Given the description of an element on the screen output the (x, y) to click on. 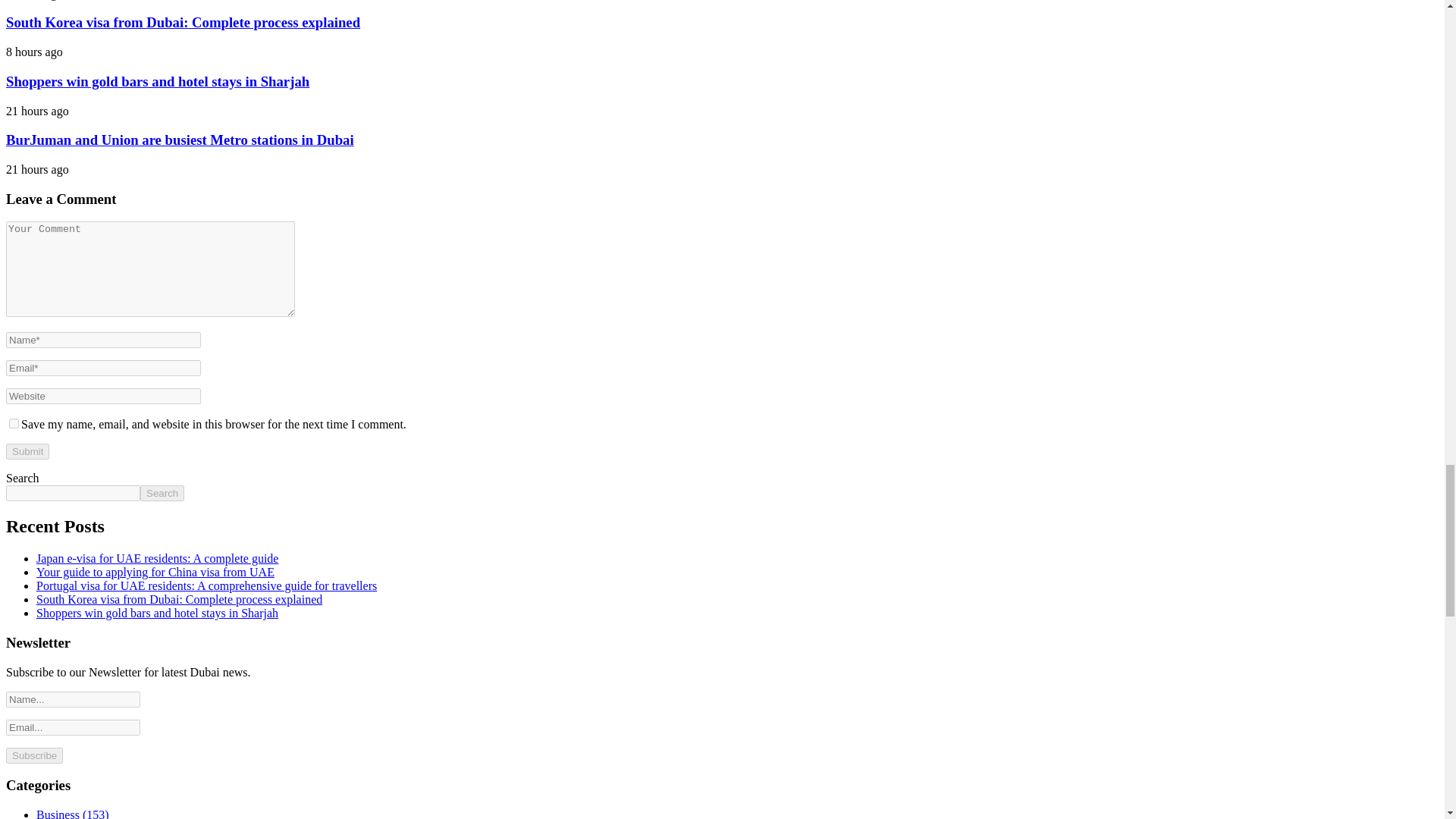
Subscribe (33, 755)
Submit (27, 451)
yes (13, 423)
